Given the description of an element on the screen output the (x, y) to click on. 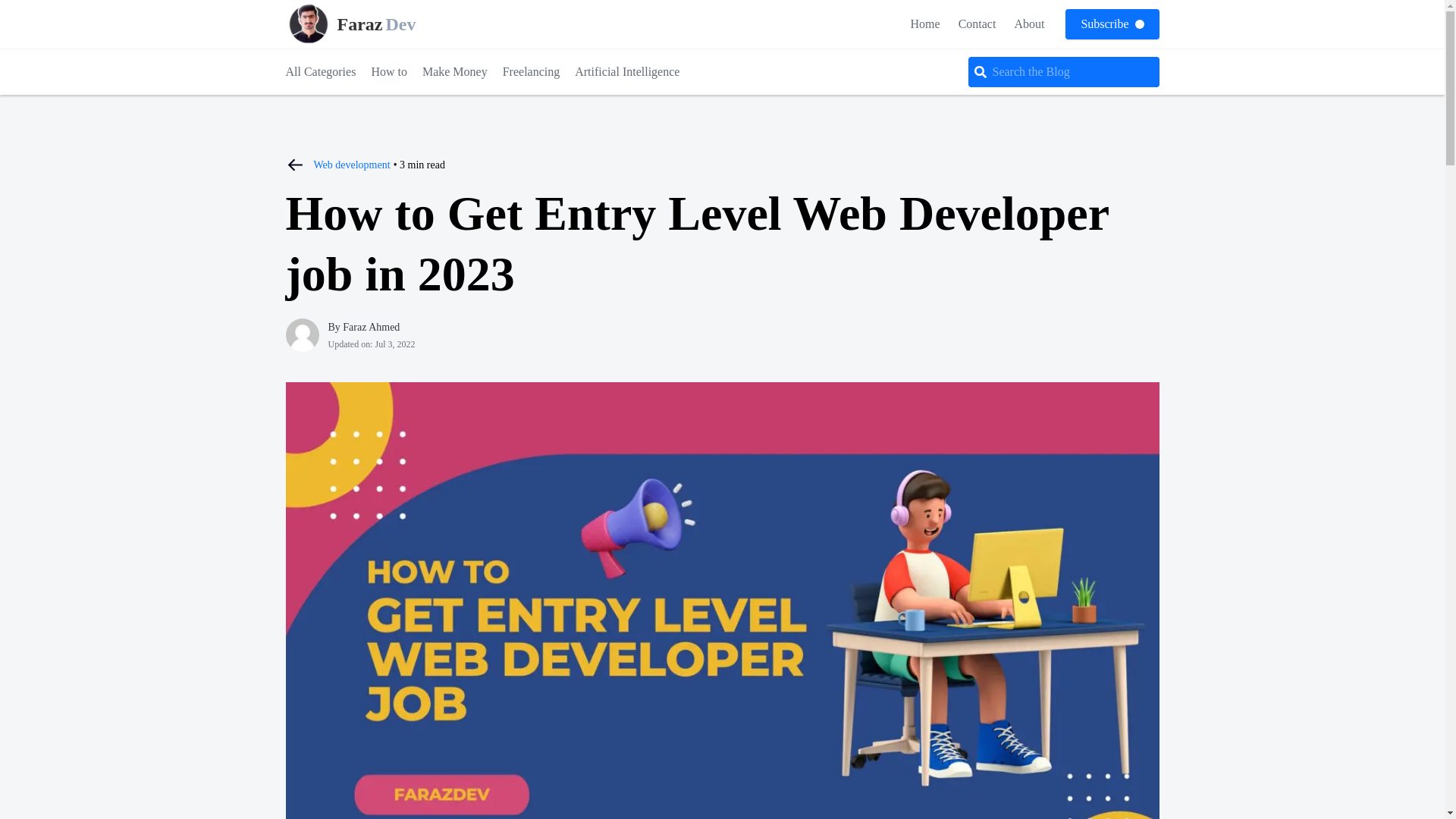
Artificial Intelligence (627, 71)
Web development (352, 164)
Contact (976, 23)
Home (925, 23)
All Categories (320, 71)
Make Money (369, 23)
About (454, 71)
How to (1028, 23)
Freelancing (389, 71)
